Given the description of an element on the screen output the (x, y) to click on. 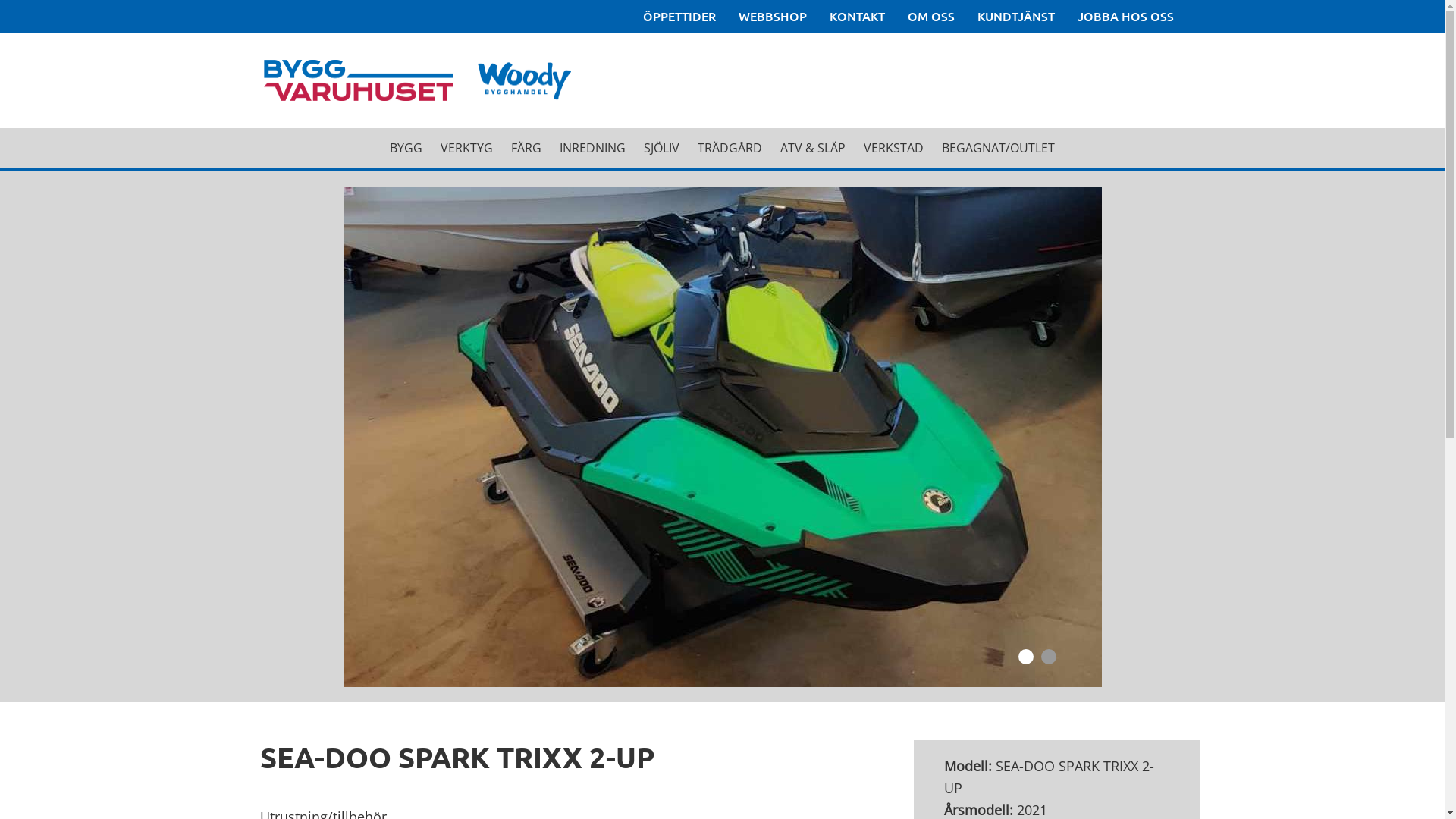
VERKTYG Element type: text (466, 147)
KONTAKT Element type: text (856, 16)
Byggvaruhuset Element type: text (273, 332)
OM OSS Element type: text (929, 16)
VERKSTAD Element type: text (893, 147)
BYGG Element type: text (405, 147)
WEBBSHOP Element type: text (772, 16)
1 Element type: text (1024, 656)
2 Element type: text (1047, 656)
BEGAGNAT/OUTLET Element type: text (998, 147)
JOBBA HOS OSS Element type: text (1124, 16)
INREDNING Element type: text (592, 147)
